Given the description of an element on the screen output the (x, y) to click on. 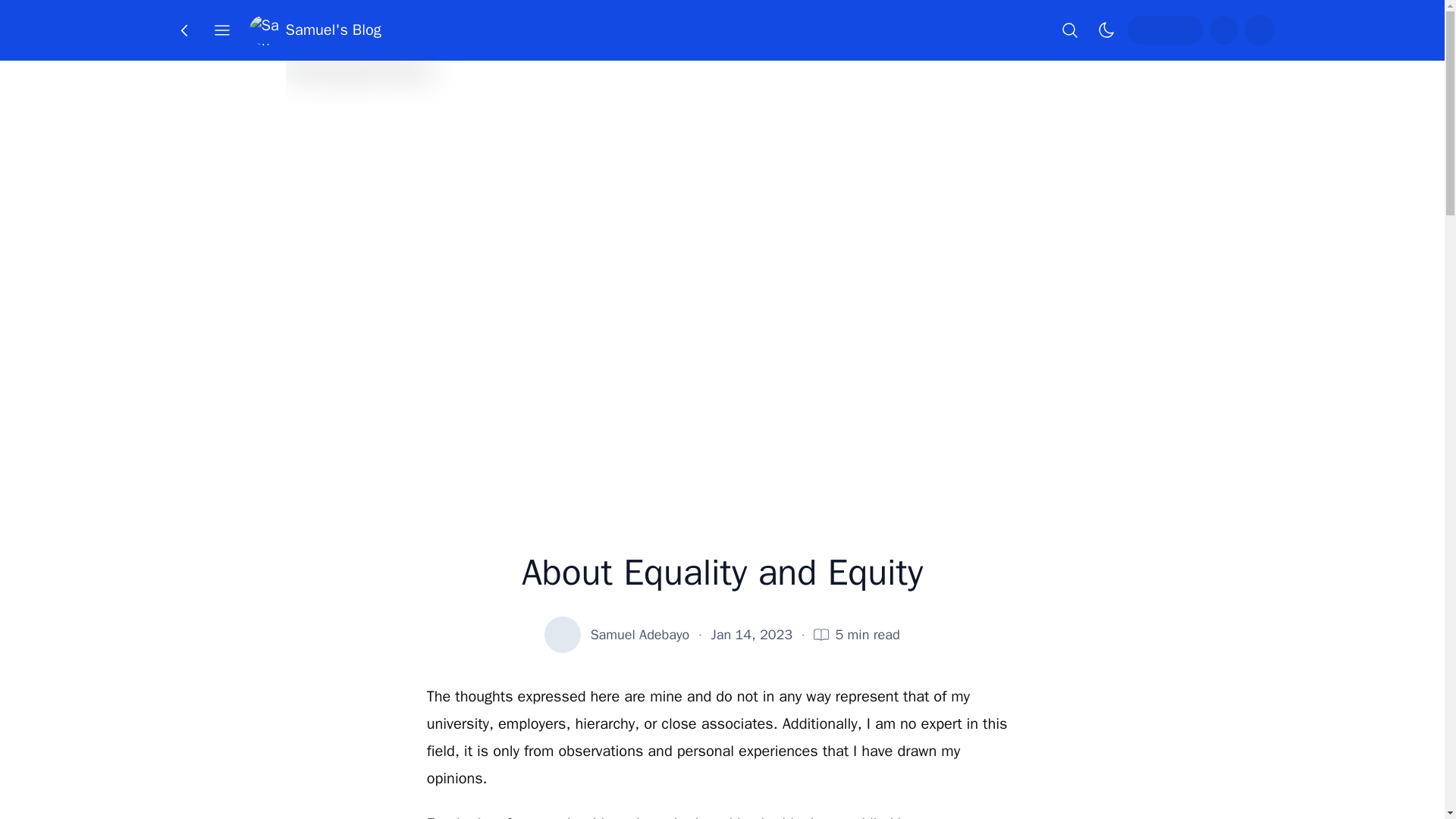
Jan 14, 2023 (752, 634)
Samuel's Blog (314, 30)
Samuel Adebayo (638, 634)
